Given the description of an element on the screen output the (x, y) to click on. 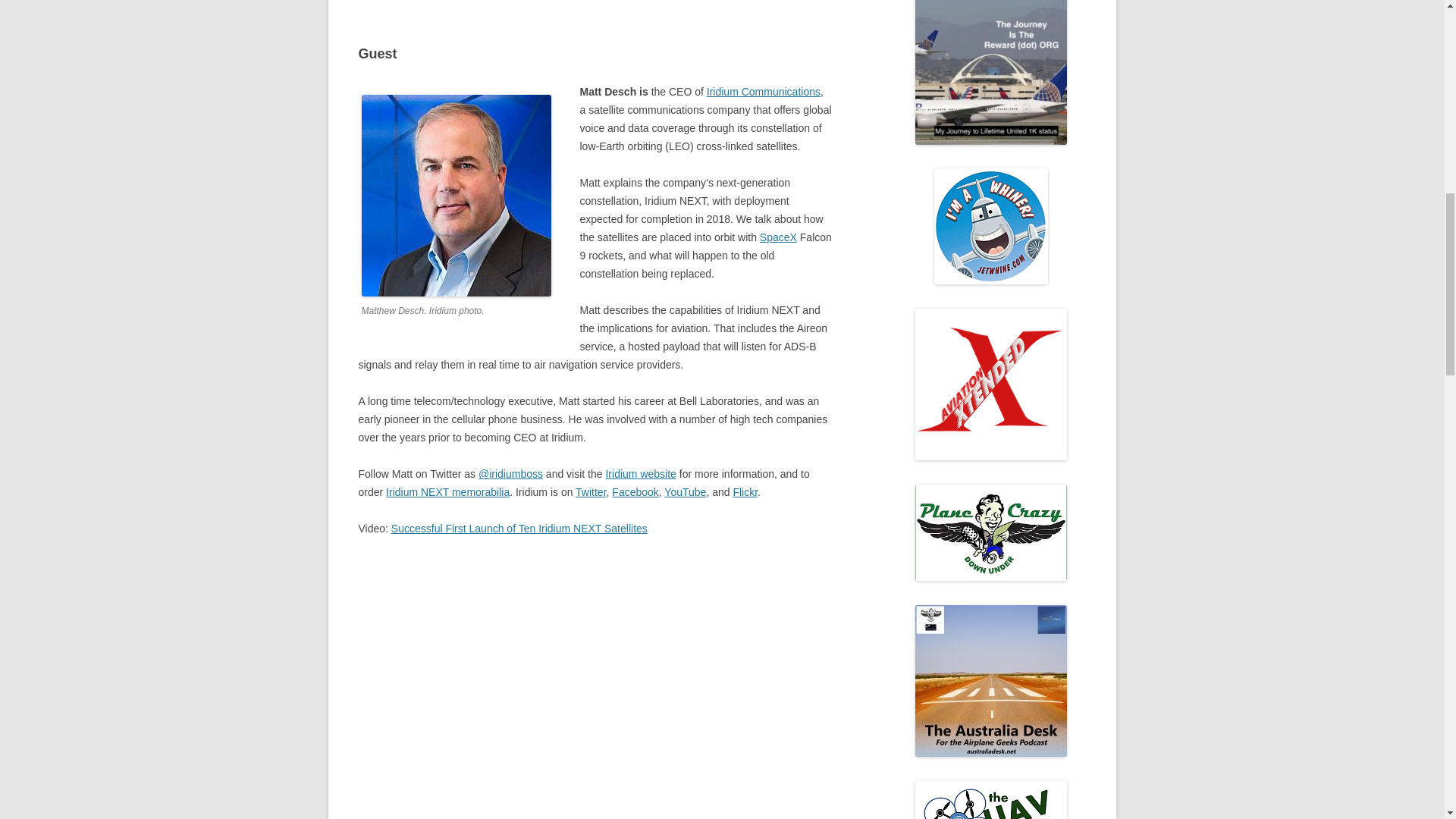
Flickr (744, 491)
SpaceX (778, 236)
Successful First Launch of Ten Iridium NEXT Satellites (519, 528)
Successful First Launch of Ten Iridium NEXT Satellites (594, 687)
Twitter (590, 491)
YouTube (684, 491)
Iridium NEXT memorabilia (447, 491)
Iridium website (640, 473)
Iridium Communications (763, 91)
Facebook (634, 491)
